Given the description of an element on the screen output the (x, y) to click on. 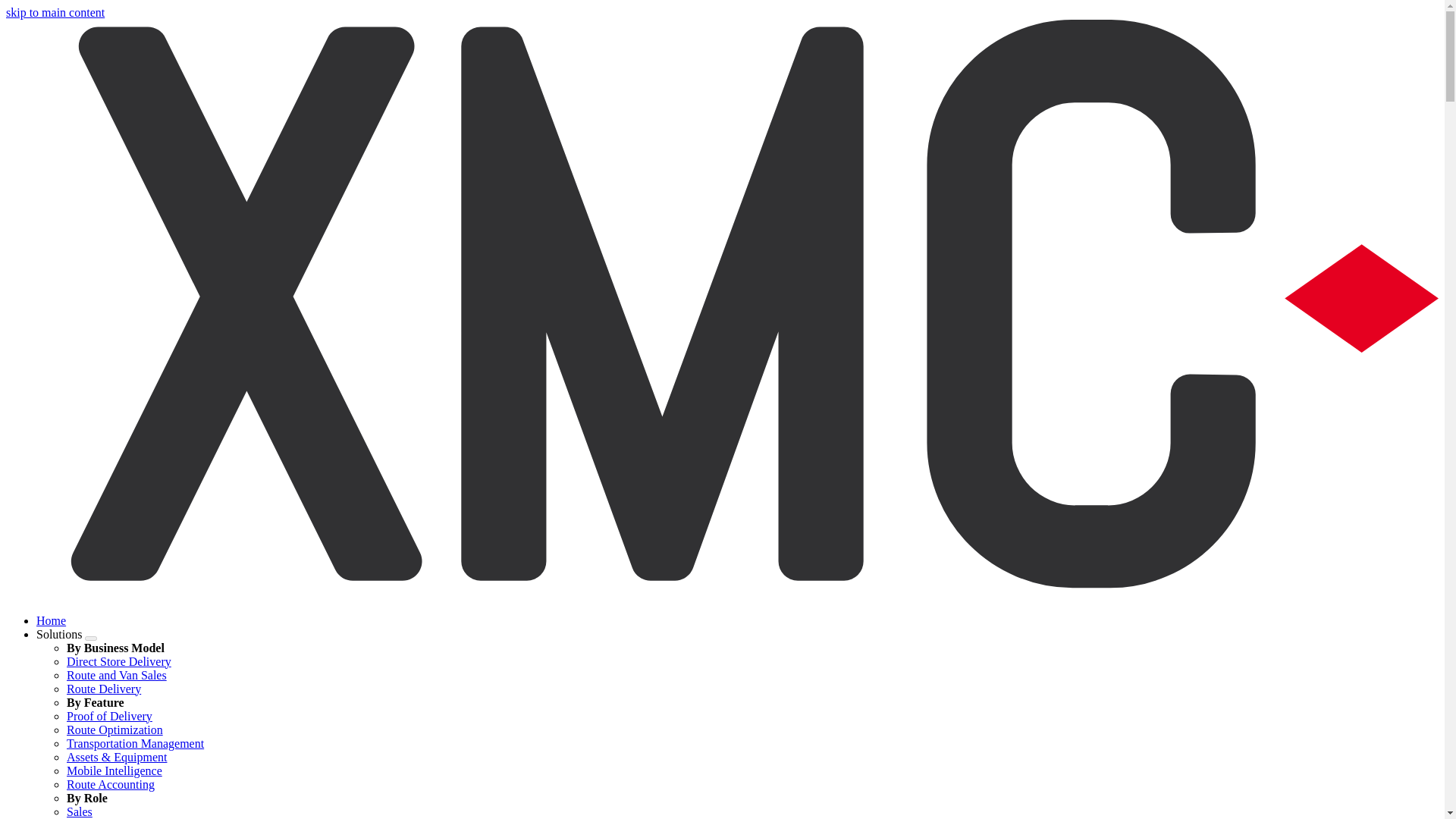
Route Accounting (110, 784)
Route and Van Sales (116, 675)
Home (50, 620)
Transportation Management (134, 743)
Mobile Intelligence (113, 770)
Route Optimization (114, 729)
Proof of Delivery (109, 716)
Direct Store Delivery (118, 661)
Sales (79, 811)
Route Delivery (103, 688)
